Given the description of an element on the screen output the (x, y) to click on. 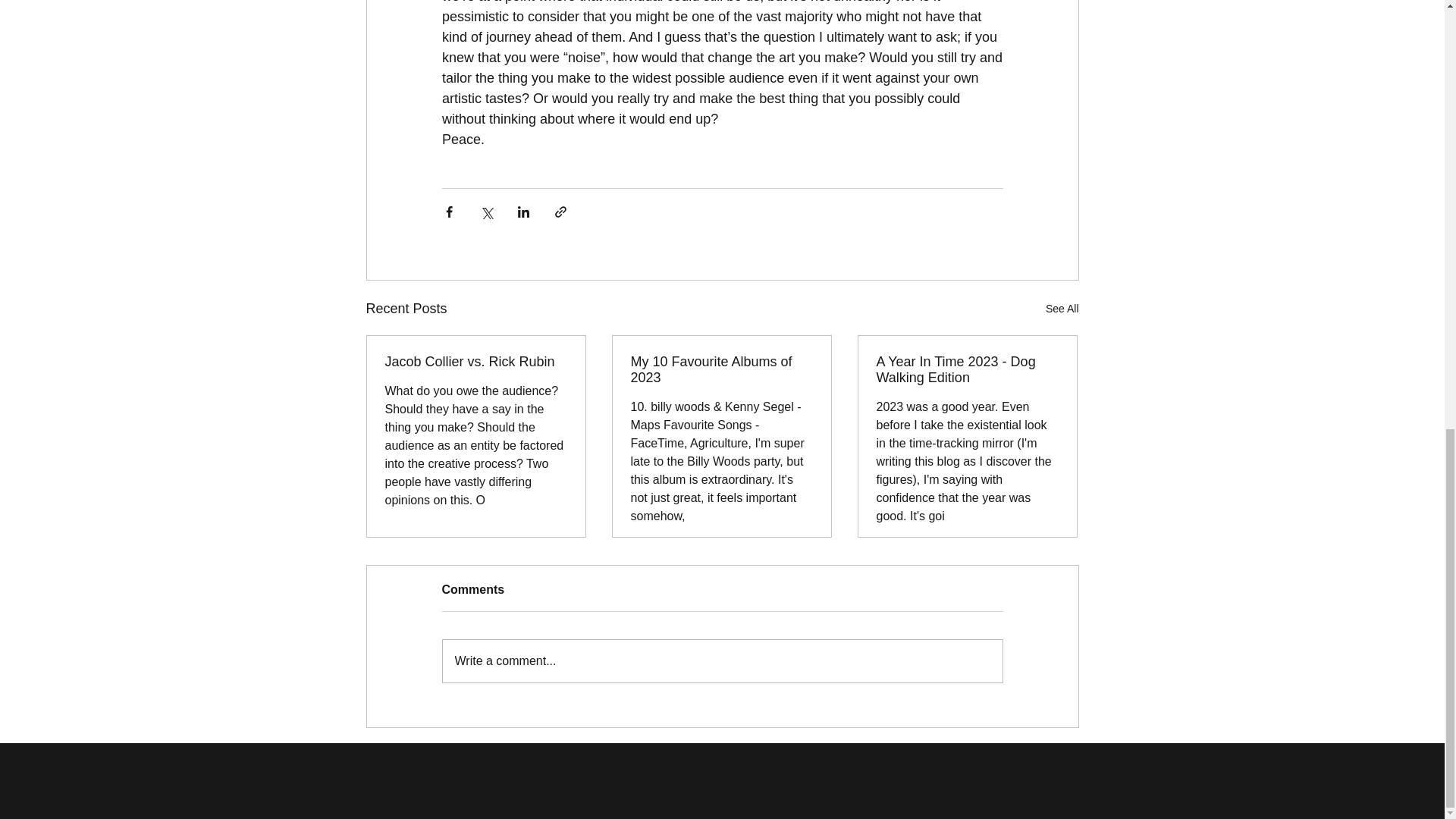
A Year In Time 2023 - Dog Walking Edition (967, 369)
My 10 Favourite Albums of 2023 (721, 369)
See All (1061, 309)
Jacob Collier vs. Rick Rubin (476, 361)
Write a comment... (722, 660)
